Given the description of an element on the screen output the (x, y) to click on. 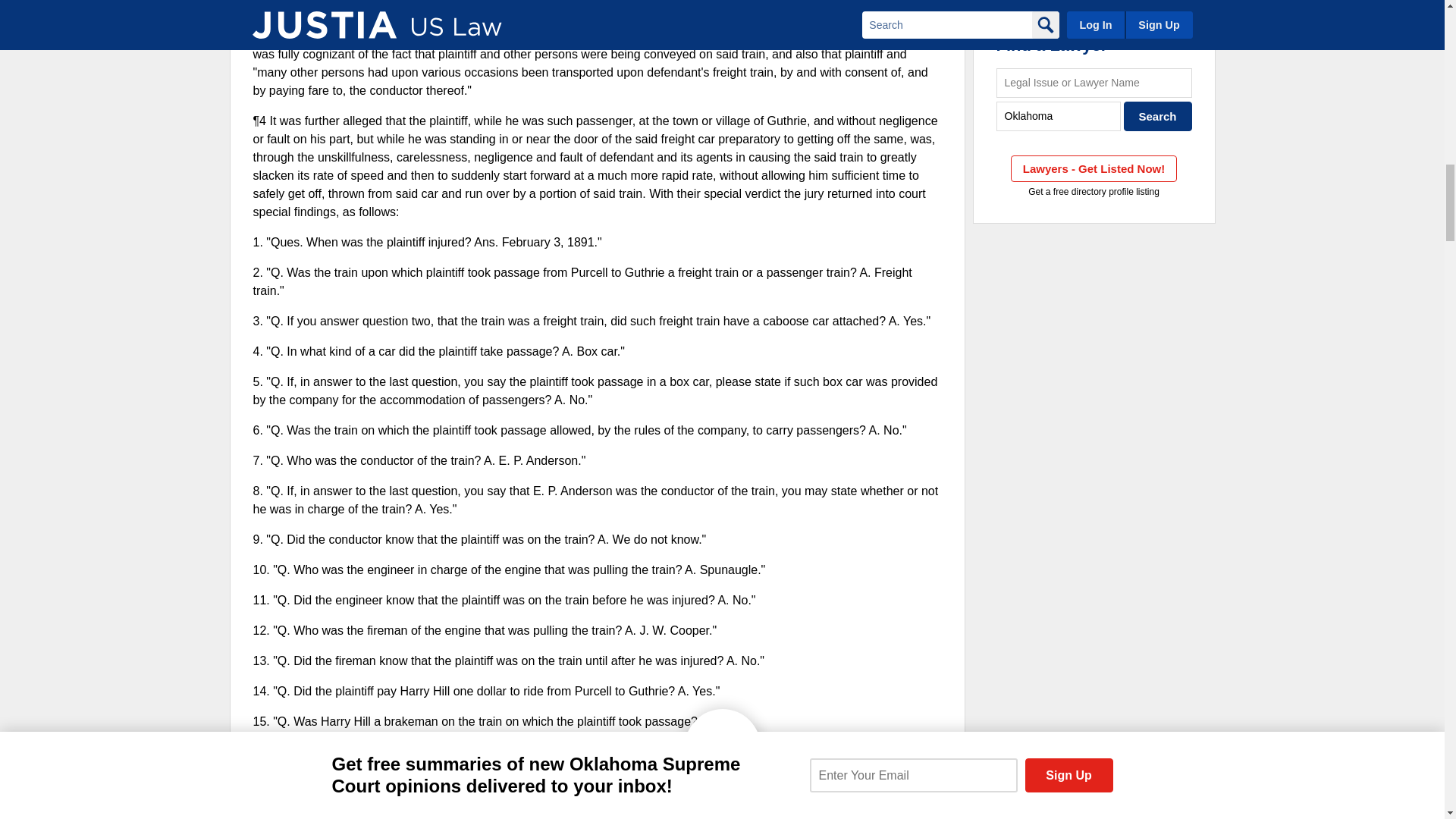
Search (1158, 116)
City, State (1058, 116)
Search (1158, 116)
Oklahoma (1058, 116)
Legal Issue or Lawyer Name (1093, 82)
